Given the description of an element on the screen output the (x, y) to click on. 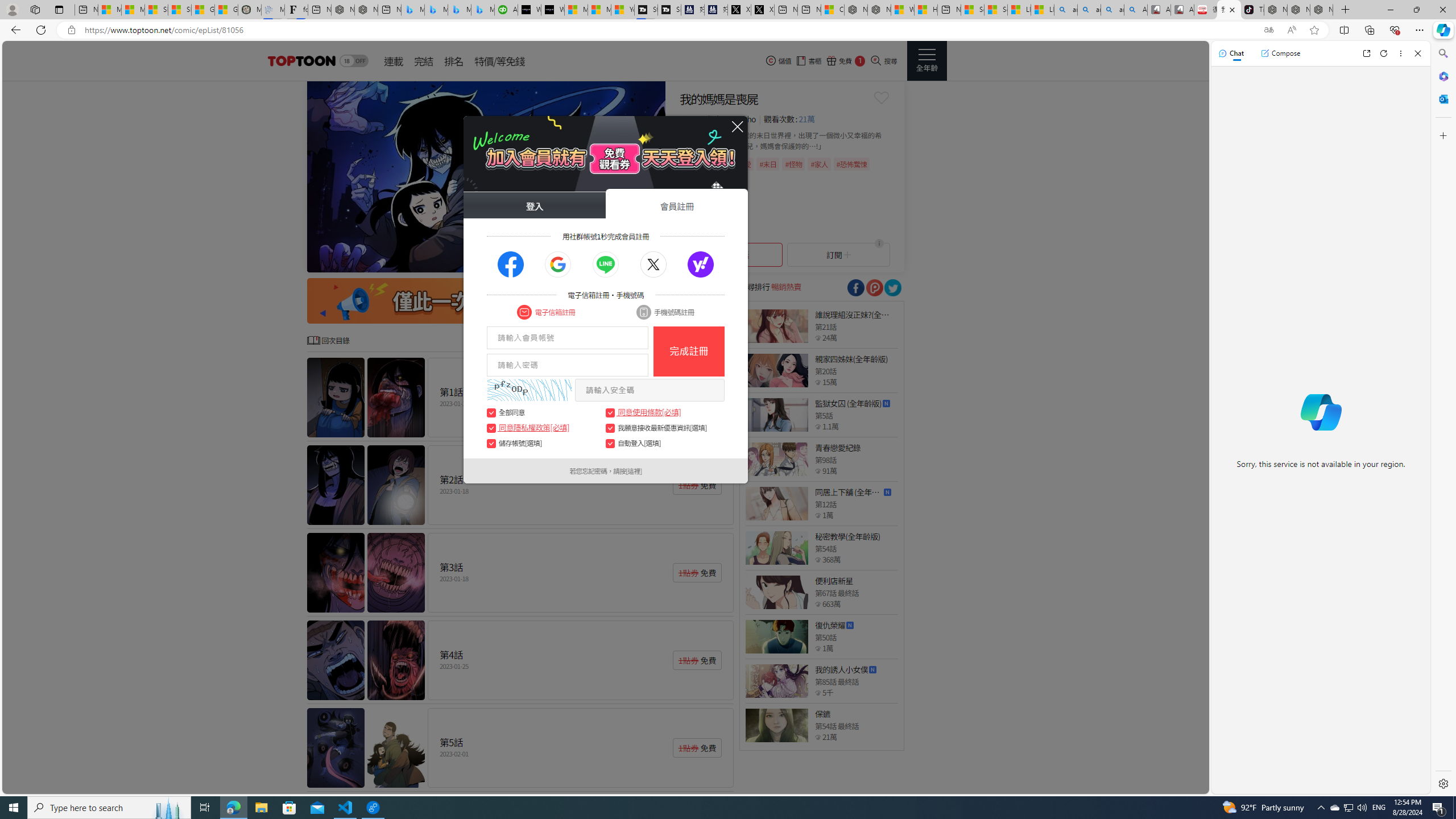
Go to slide 7 (625, 261)
Go to slide 4 (597, 261)
Search (1442, 53)
Class: socialShare (892, 287)
header (300, 60)
Class: side_menu_btn actionRightMenuBtn (926, 60)
